Given the description of an element on the screen output the (x, y) to click on. 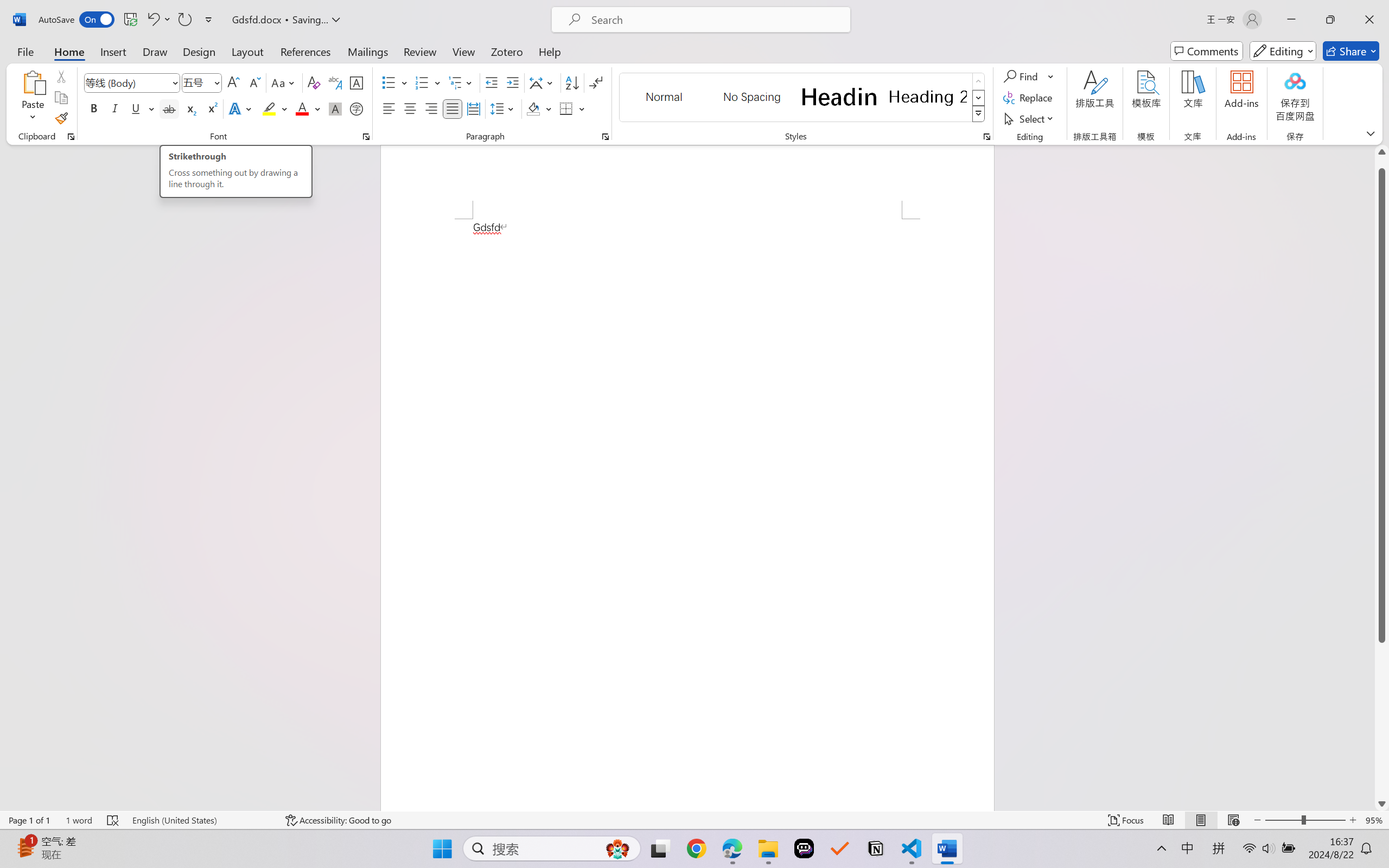
Format Painter (60, 118)
Zoom 95% (1374, 819)
Clear Formatting (313, 82)
Line and Paragraph Spacing (503, 108)
Text Highlight Color (274, 108)
Class: NetUIScrollBar (1382, 477)
Multilevel List (461, 82)
